Given the description of an element on the screen output the (x, y) to click on. 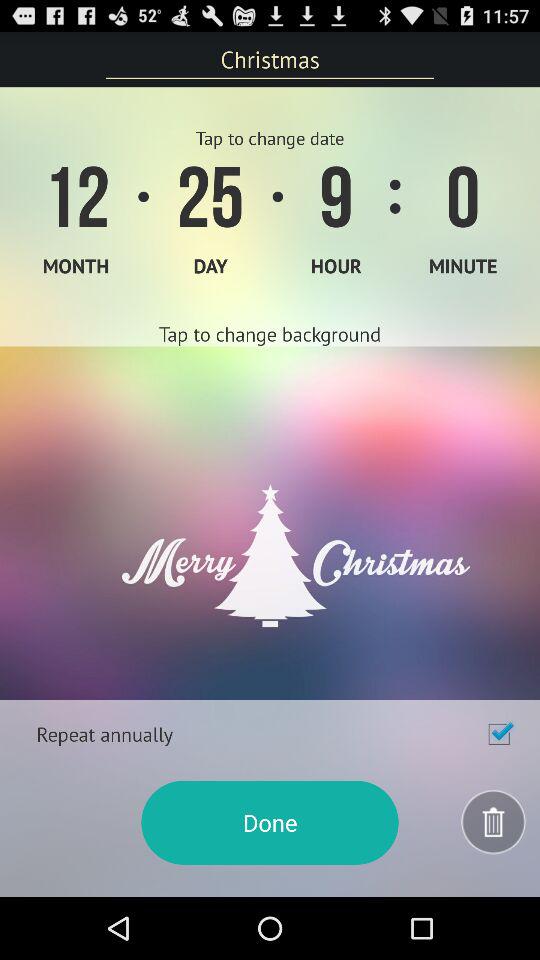
trash item (493, 822)
